Given the description of an element on the screen output the (x, y) to click on. 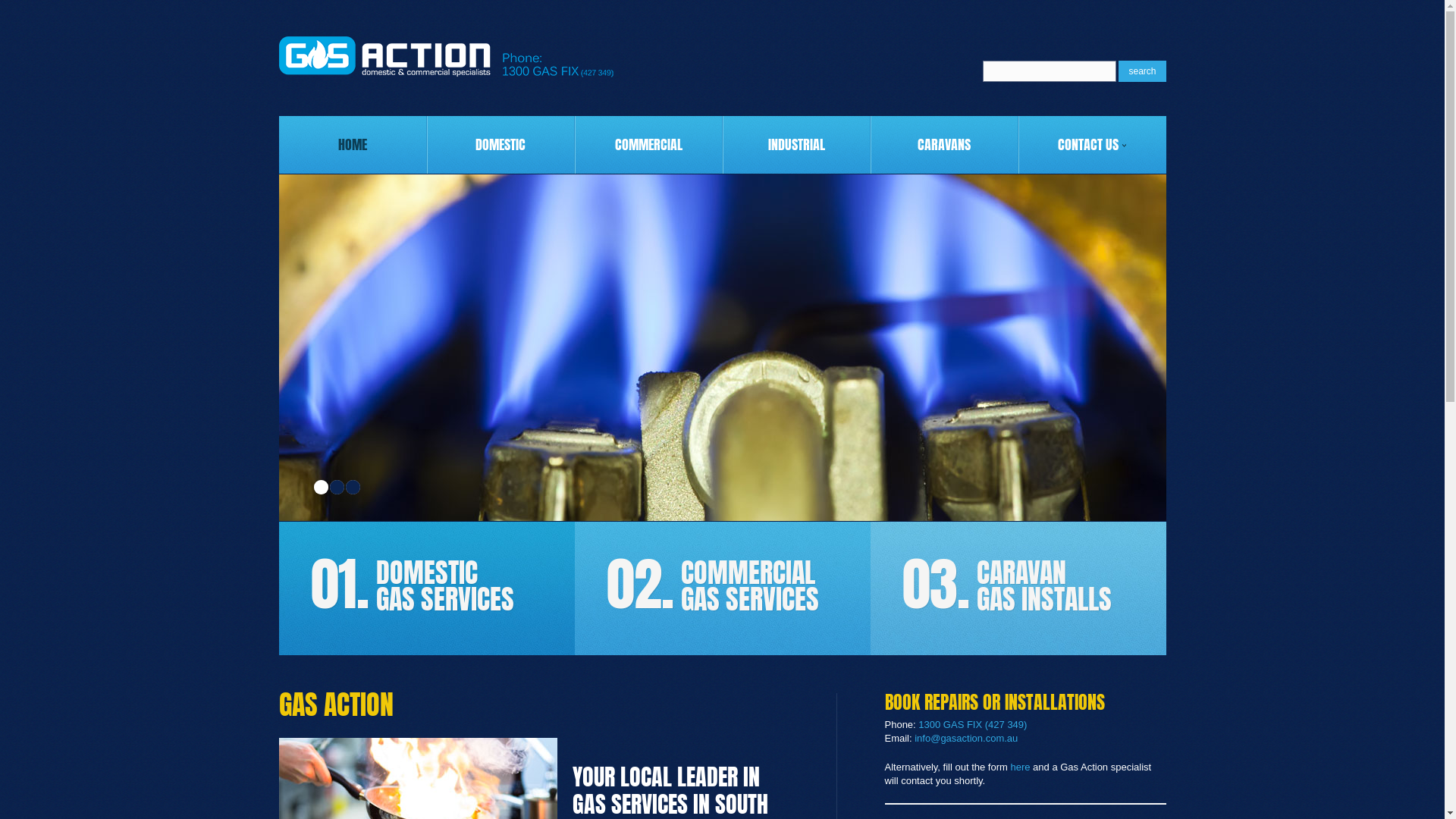
HOME Element type: text (352, 144)
info@gasaction.com.au Element type: text (965, 737)
CARAVAN
GAS INSTALLS Element type: text (1047, 585)
DOMESTIC Element type: text (500, 144)
search Element type: text (1141, 70)
COMMERCIAL Element type: text (647, 144)
CARAVANS Element type: text (943, 144)
here Element type: text (1019, 766)
1300 GAS FIX (427 349) Element type: text (972, 724)
INDUSTRIAL Element type: text (796, 144)
DOMESTIC
GAS SERVICES Element type: text (448, 585)
COMMERCIAL
GAS SERVICES Element type: text (753, 585)
